Given the description of an element on the screen output the (x, y) to click on. 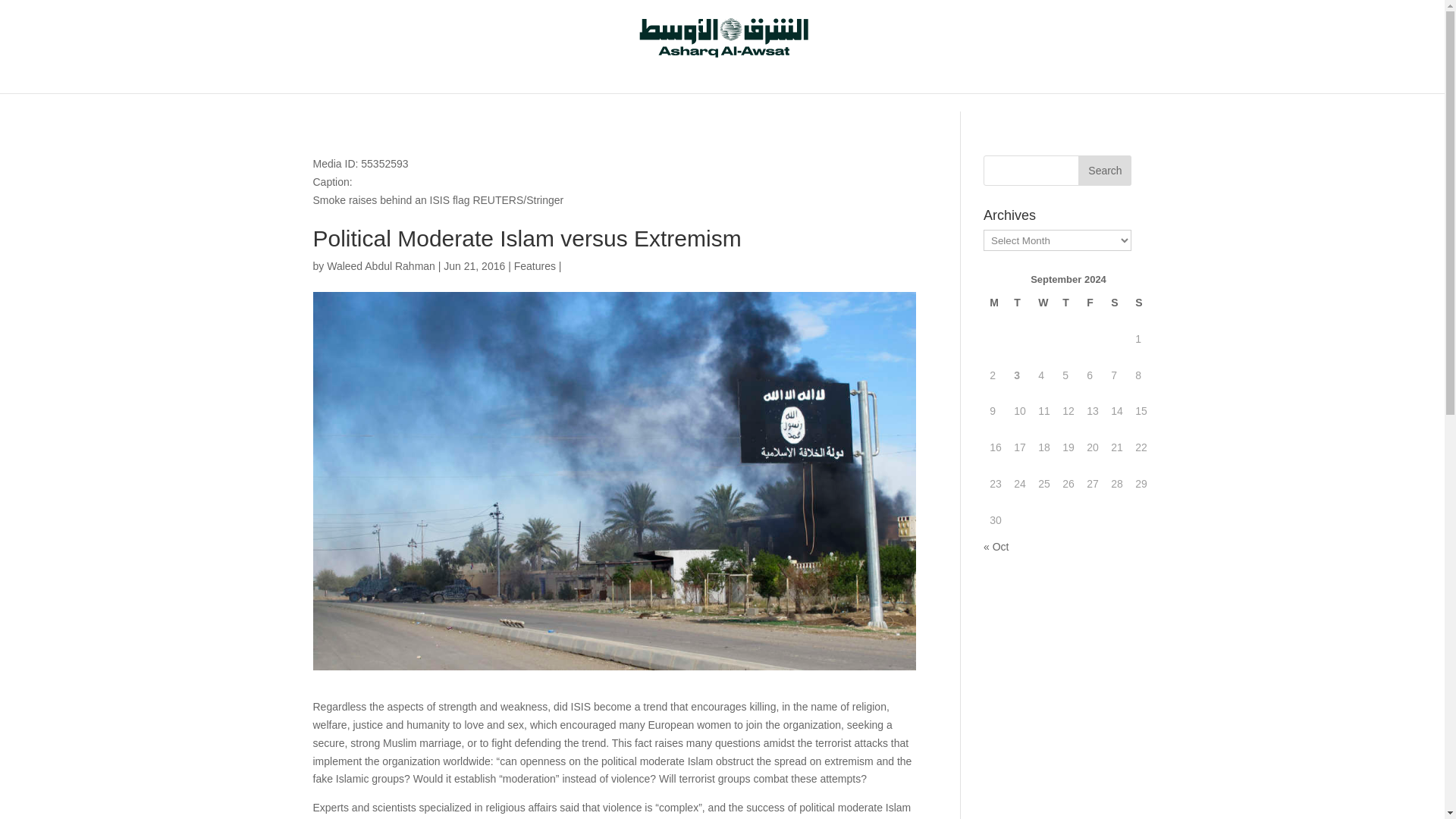
Waleed Abdul Rahman (380, 265)
Posts by Waleed Abdul Rahman (380, 265)
Features (534, 265)
Search (1104, 170)
Search (1104, 170)
